Given the description of an element on the screen output the (x, y) to click on. 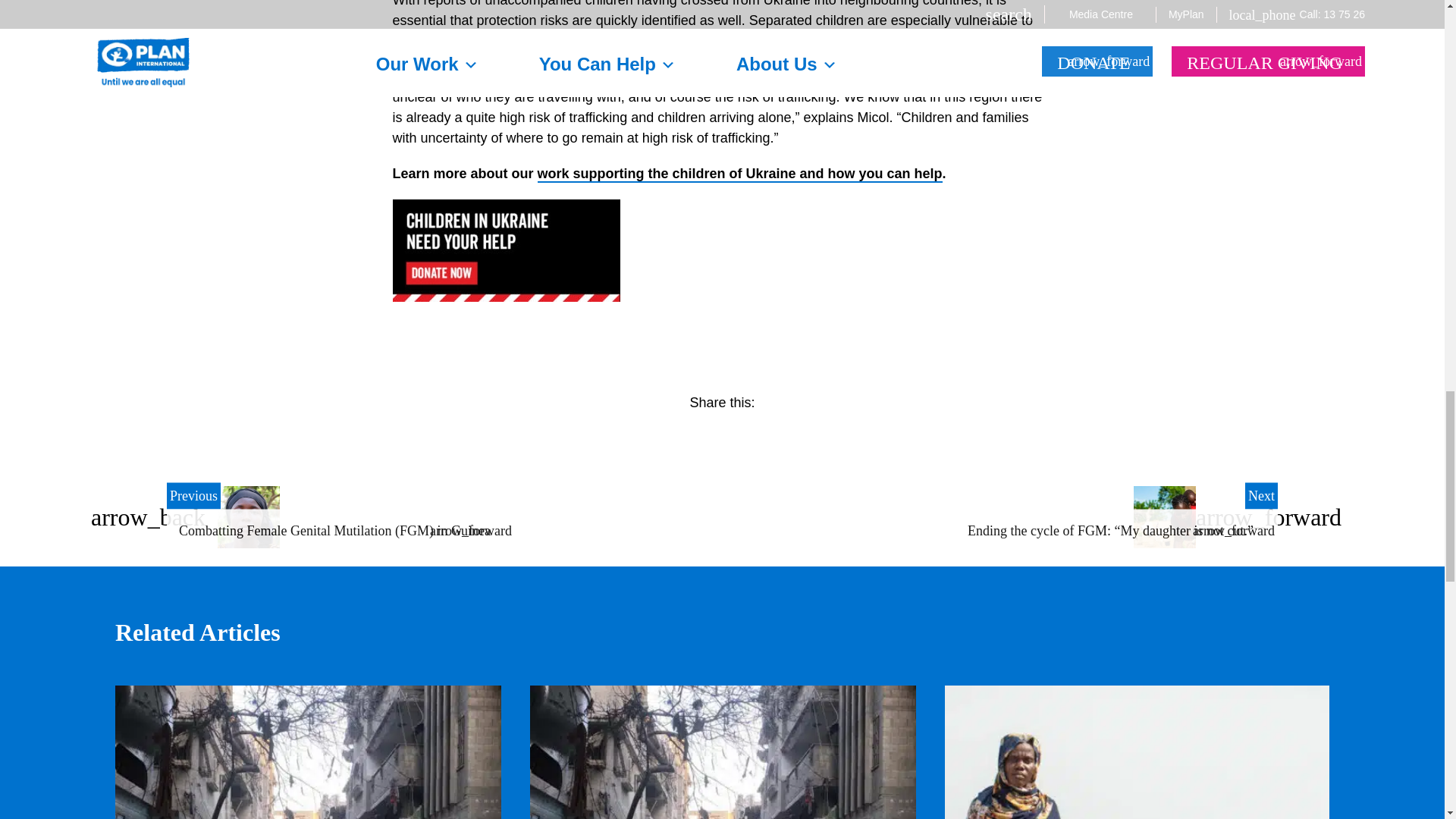
Rafah: The Realities on the Ground (307, 752)
